Given the description of an element on the screen output the (x, y) to click on. 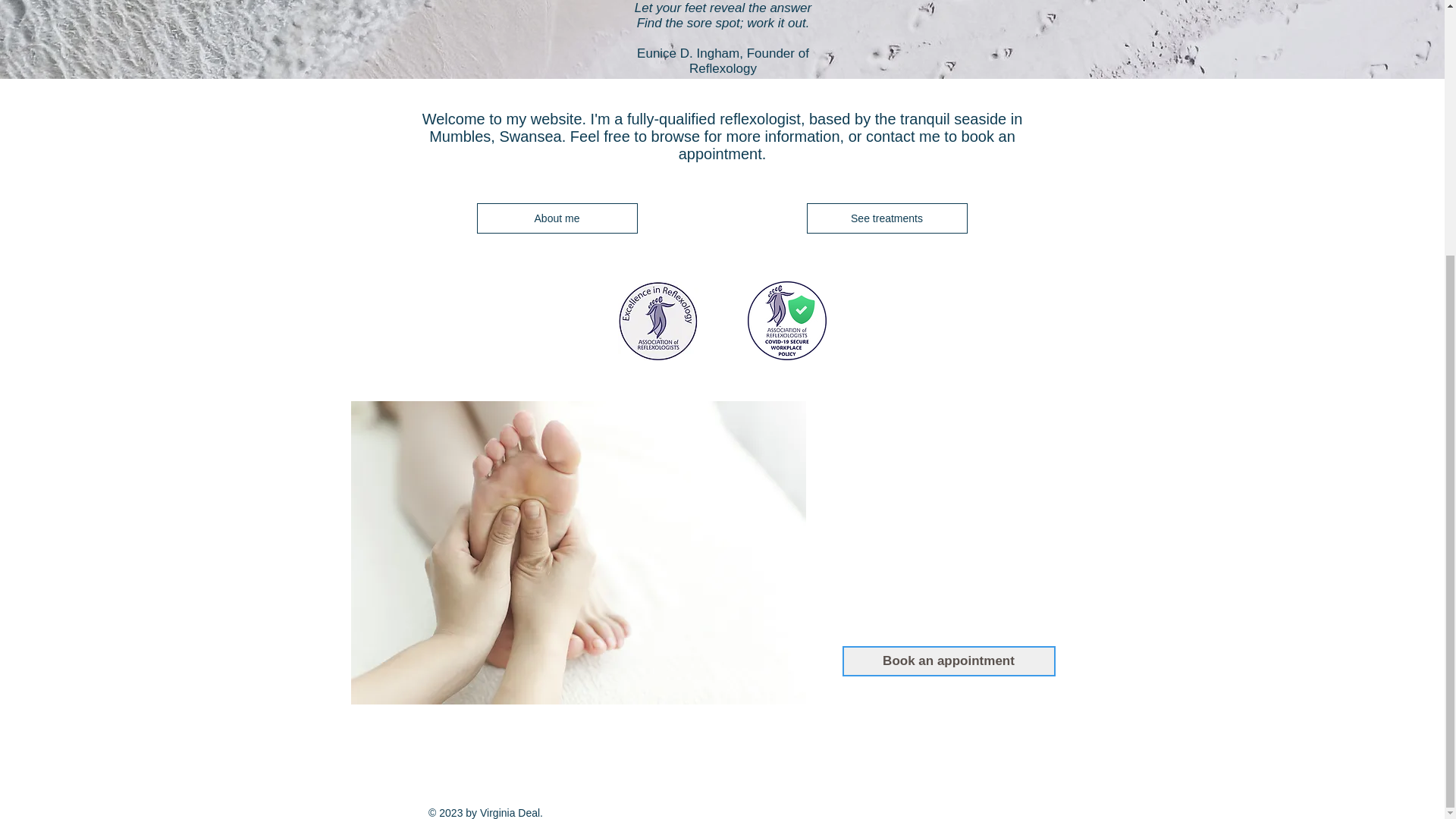
About me (556, 218)
See treatments (887, 218)
Book an appointment (947, 661)
